Given the description of an element on the screen output the (x, y) to click on. 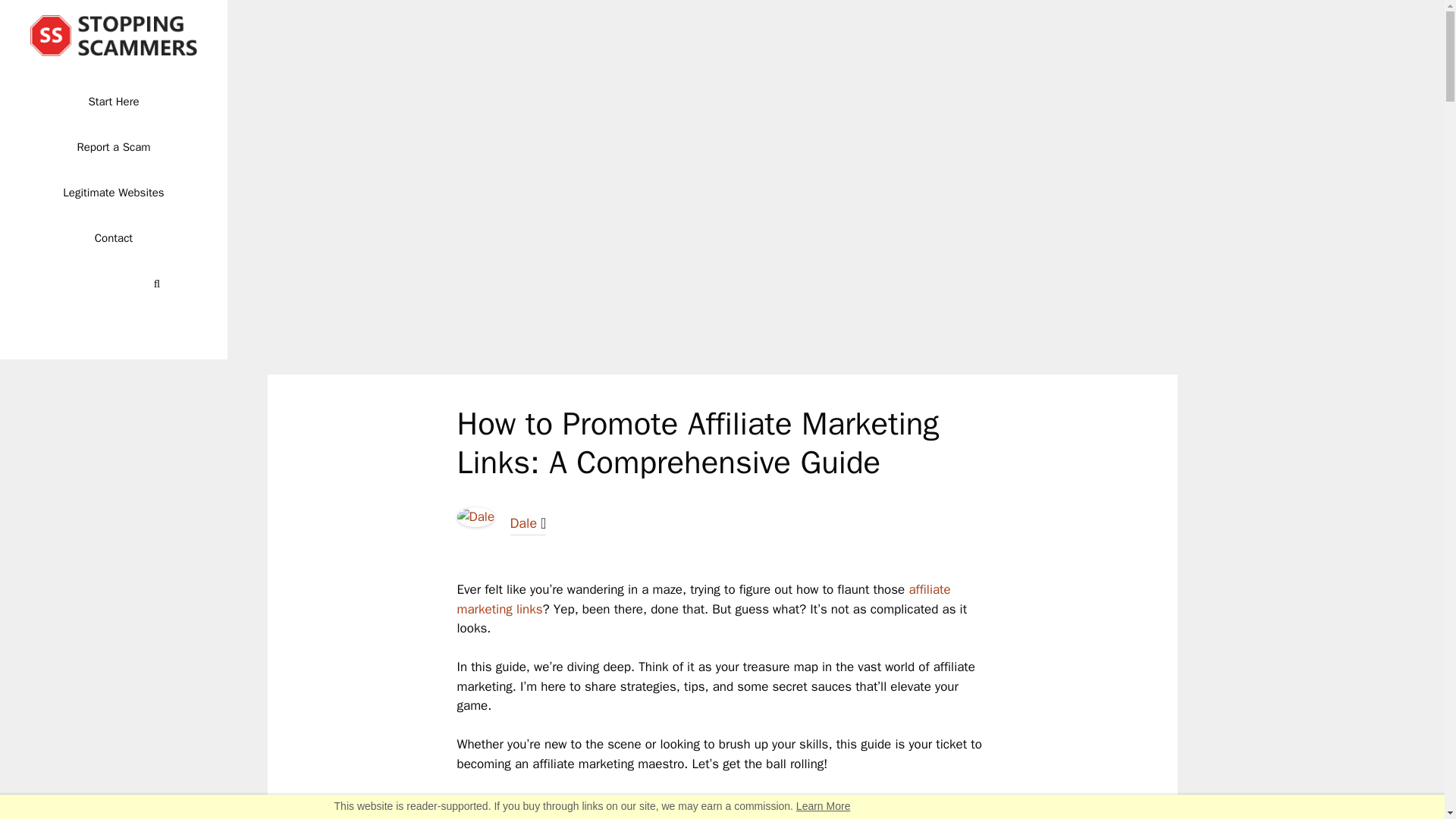
Dale (523, 523)
affiliate marketing links (703, 599)
Legitimate Websites (113, 192)
Start Here (113, 101)
Contact (113, 238)
Dale (476, 522)
Report a Scam (113, 146)
